Given the description of an element on the screen output the (x, y) to click on. 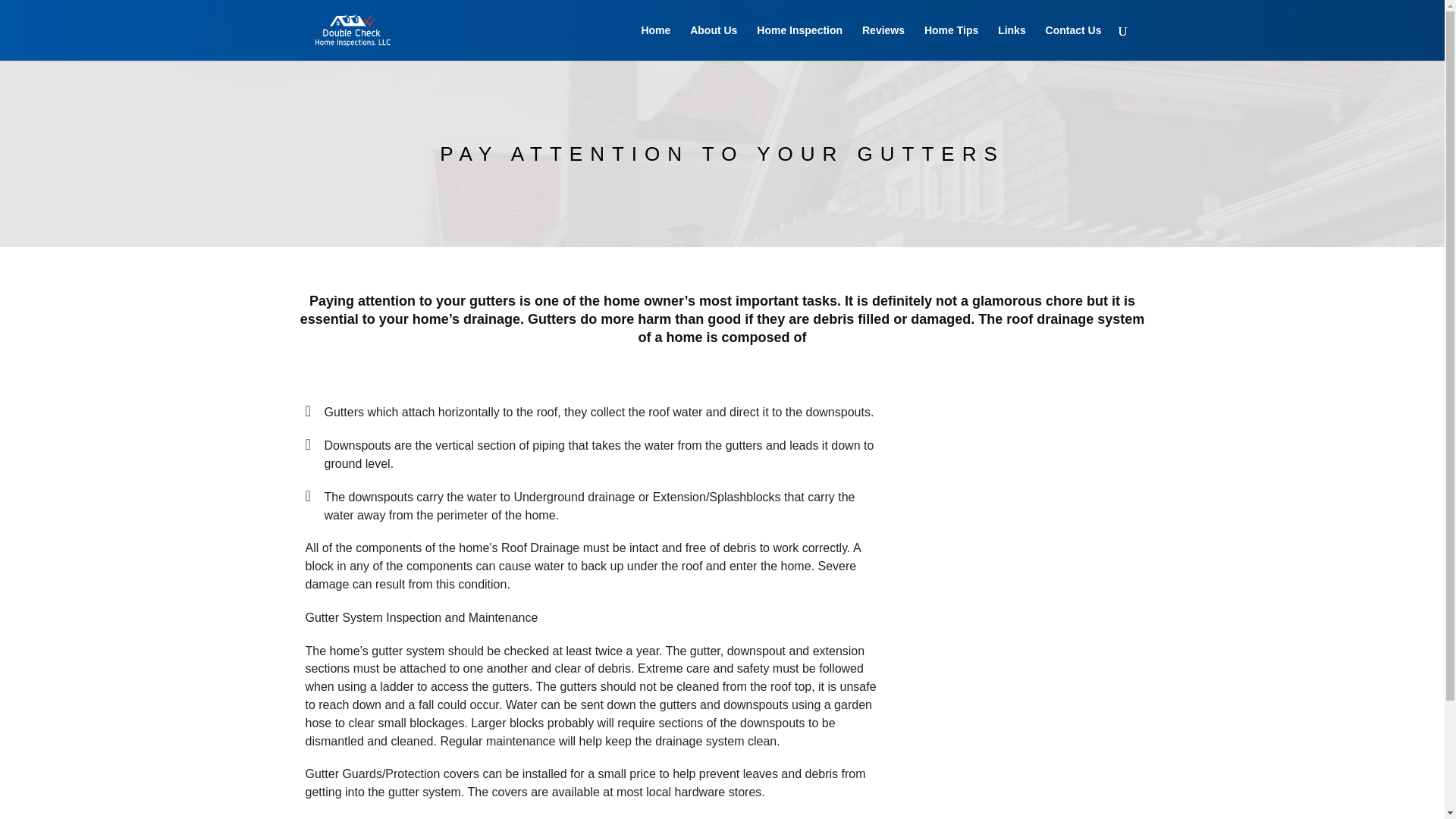
Contact Us (1073, 42)
Home Tips (951, 42)
Home Inspection (800, 42)
Reviews (882, 42)
About Us (713, 42)
